Given the description of an element on the screen output the (x, y) to click on. 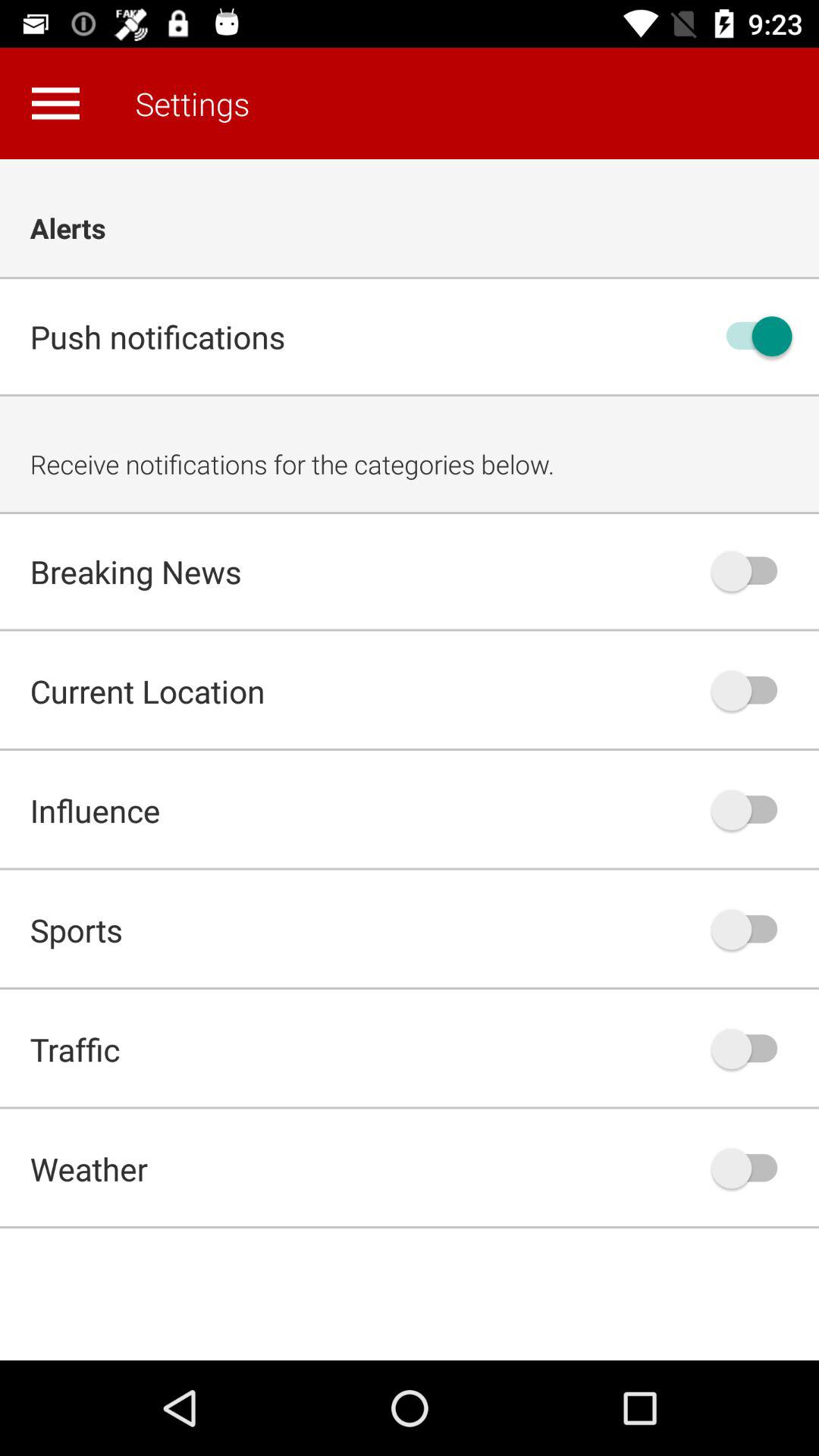
this is phone setting (751, 690)
